Given the description of an element on the screen output the (x, y) to click on. 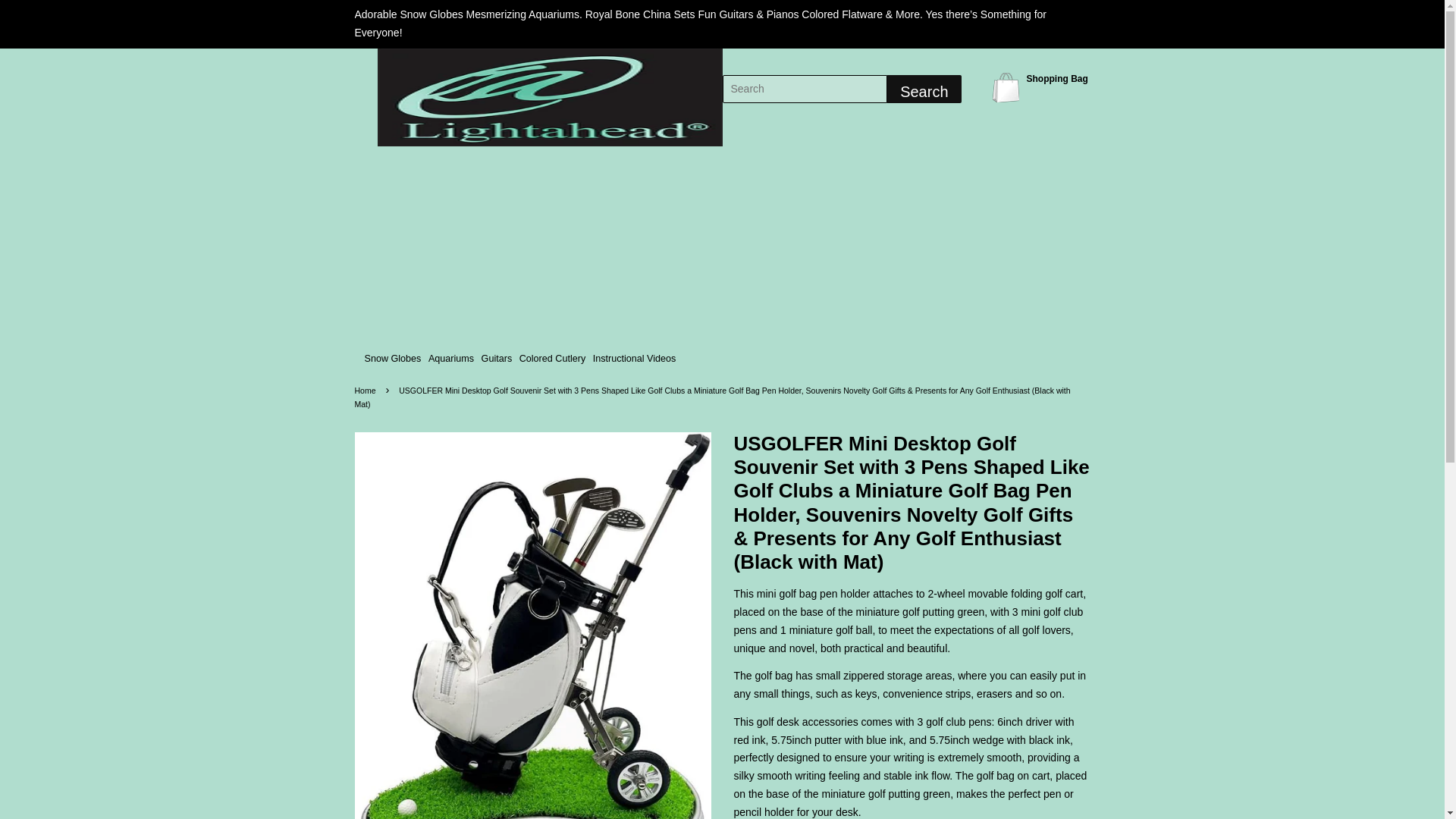
Shopping Bag (1056, 78)
Instructional Videos (634, 358)
Search (923, 89)
Colored Cutlery (552, 358)
Guitars (497, 358)
Aquariums (451, 358)
Shopping Bag (1008, 86)
Shopping Bag (1056, 78)
Back to the frontpage (367, 389)
Shopping Bag (1008, 86)
Snow Globes (392, 358)
Home (367, 389)
